Given the description of an element on the screen output the (x, y) to click on. 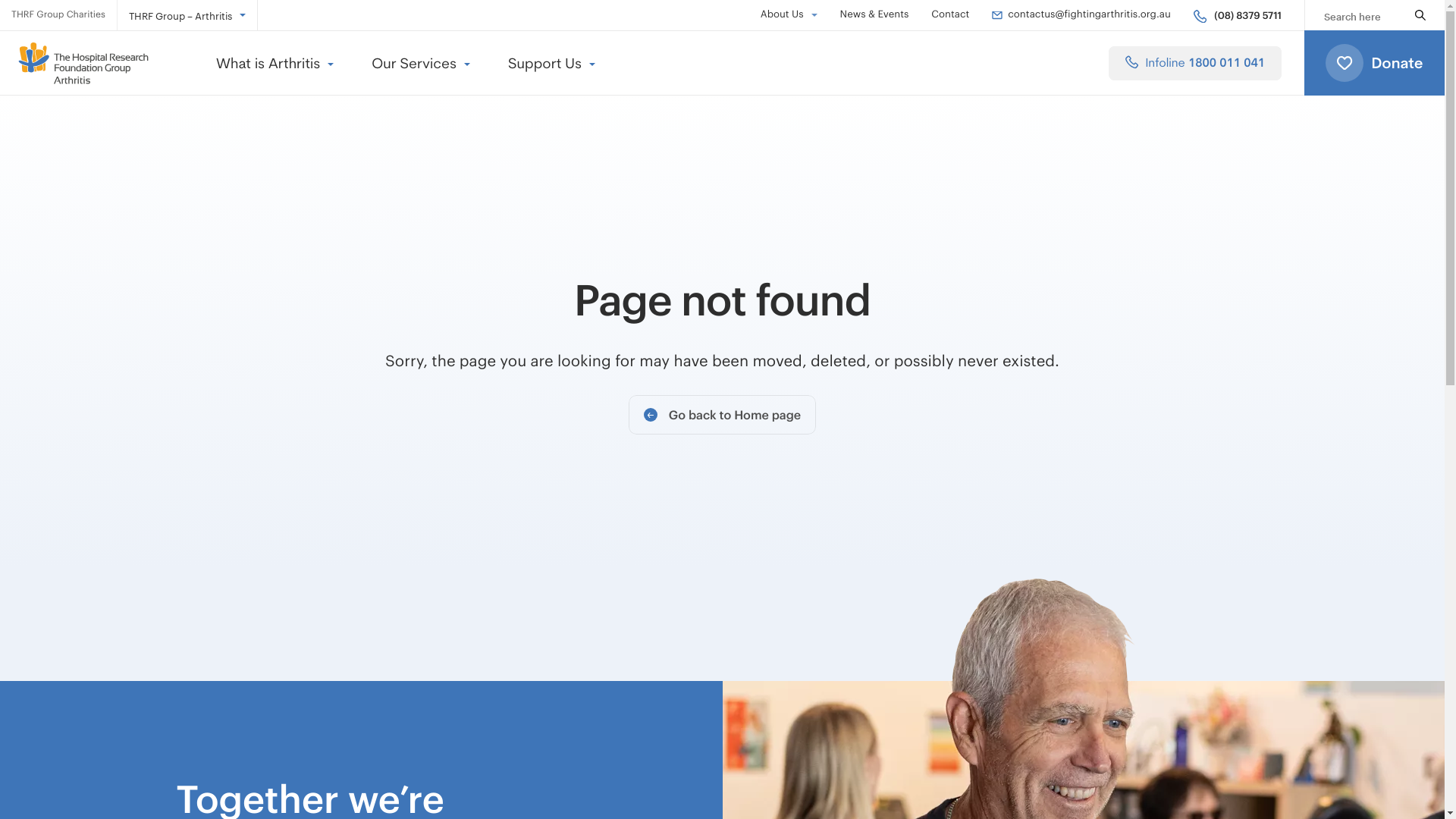
(08) 8379 5711 Element type: text (1237, 15)
About Us Element type: text (788, 15)
Support Us Element type: text (551, 62)
Contact Element type: text (950, 15)
contactus@fightingarthritis.org.au Element type: text (1080, 15)
Search Element type: text (1420, 15)
Skip to Content Element type: text (6, 6)
Infoline
1800 011 041 Element type: text (1194, 62)
News & Events Element type: text (874, 15)
Our Services Element type: text (420, 62)
Donate Element type: text (1374, 62)
What is Arthritis Element type: text (274, 62)
Go back to Home page Element type: text (721, 414)
